Given the description of an element on the screen output the (x, y) to click on. 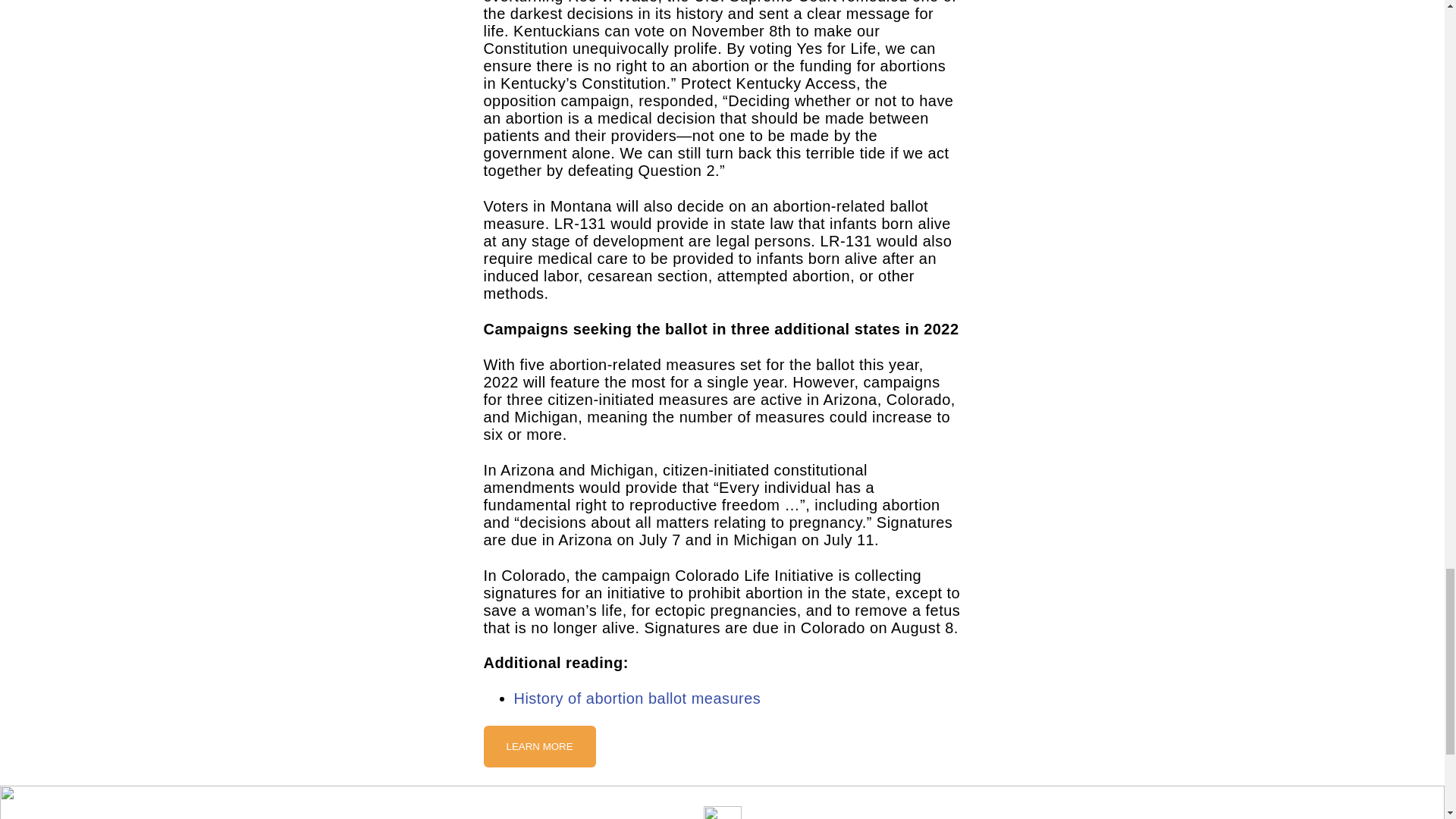
History of abortion ballot measures (637, 698)
LEARN MORE (539, 746)
LEARN MORE (539, 745)
